Given the description of an element on the screen output the (x, y) to click on. 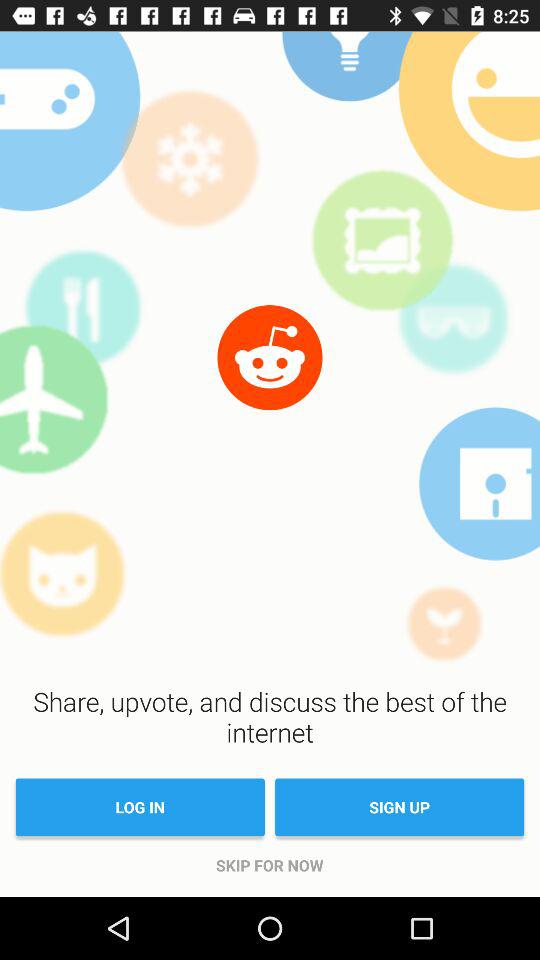
open icon next to the sign up (140, 807)
